Given the description of an element on the screen output the (x, y) to click on. 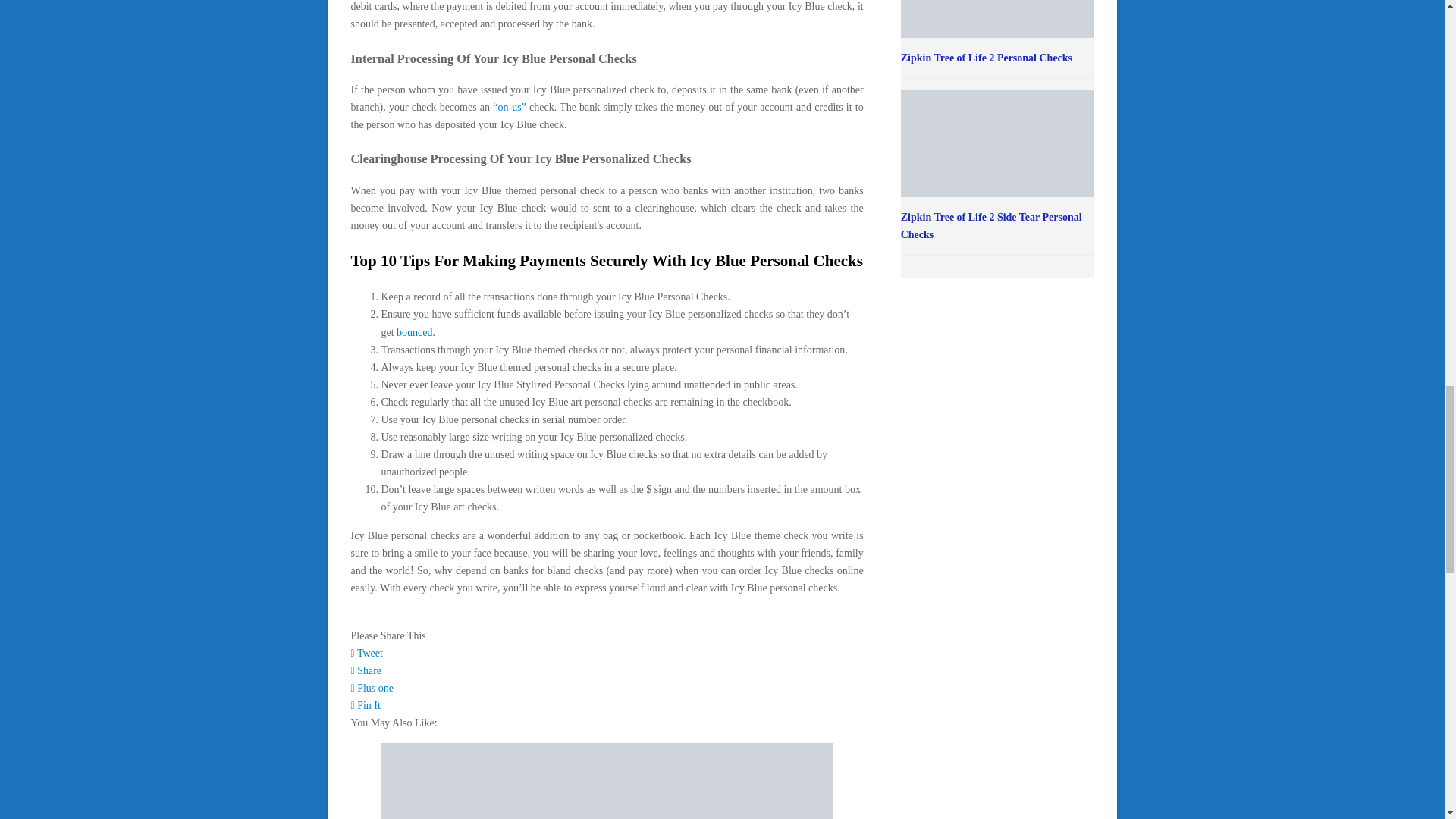
bounced (414, 332)
Tweet (365, 653)
Pin It (365, 705)
Share (365, 670)
Plus one (371, 687)
Share on Twitter (365, 653)
Share on Pinterest (365, 705)
Share on Facebook (365, 670)
